Given the description of an element on the screen output the (x, y) to click on. 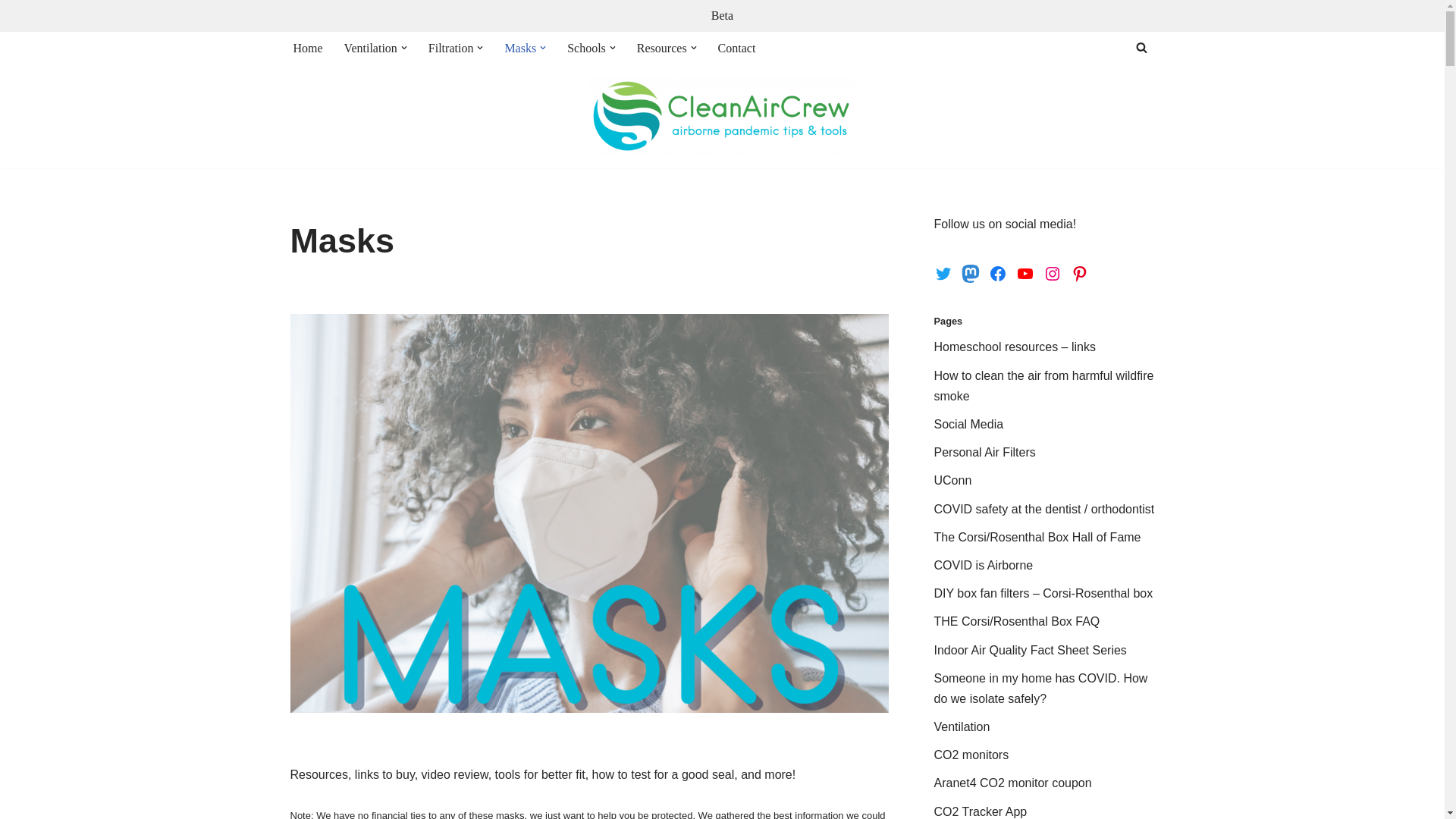
Masks (519, 47)
Home (306, 47)
Ventilation (370, 47)
Skip to content (11, 31)
Contact (736, 47)
Schools (586, 47)
Filtration (451, 47)
Resources (662, 47)
